Given the description of an element on the screen output the (x, y) to click on. 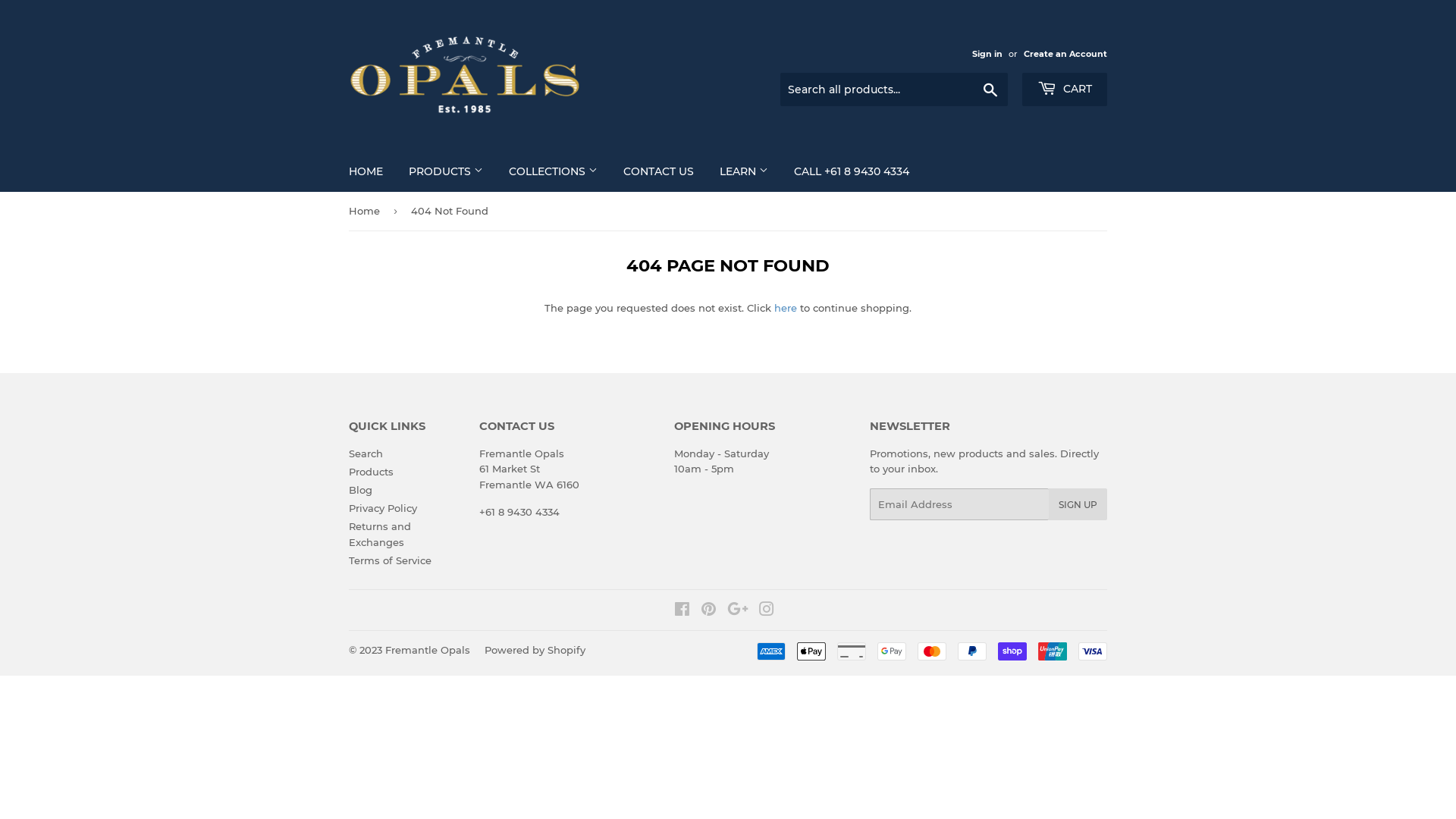
Search Element type: text (365, 453)
CONTACT US Element type: text (658, 171)
Search Element type: text (990, 90)
Fremantle Opals Element type: text (427, 649)
+61 8 9430 4334 Element type: text (519, 511)
Returns and Exchanges Element type: text (379, 534)
Instagram Element type: text (766, 611)
Terms of Service Element type: text (389, 560)
Privacy Policy Element type: text (382, 508)
Home Element type: text (366, 210)
HOME Element type: text (365, 171)
Google Element type: text (737, 611)
Powered by Shopify Element type: text (534, 649)
Facebook Element type: text (682, 611)
Pinterest Element type: text (708, 611)
COLLECTIONS Element type: text (552, 171)
Products Element type: text (370, 471)
Create an Account Element type: text (1065, 53)
PRODUCTS Element type: text (445, 171)
SIGN UP Element type: text (1077, 504)
Blog Element type: text (360, 489)
CART Element type: text (1064, 89)
LEARN Element type: text (743, 171)
CALL +61 8 9430 4334 Element type: text (851, 171)
here Element type: text (785, 307)
Sign in Element type: text (987, 53)
